Given the description of an element on the screen output the (x, y) to click on. 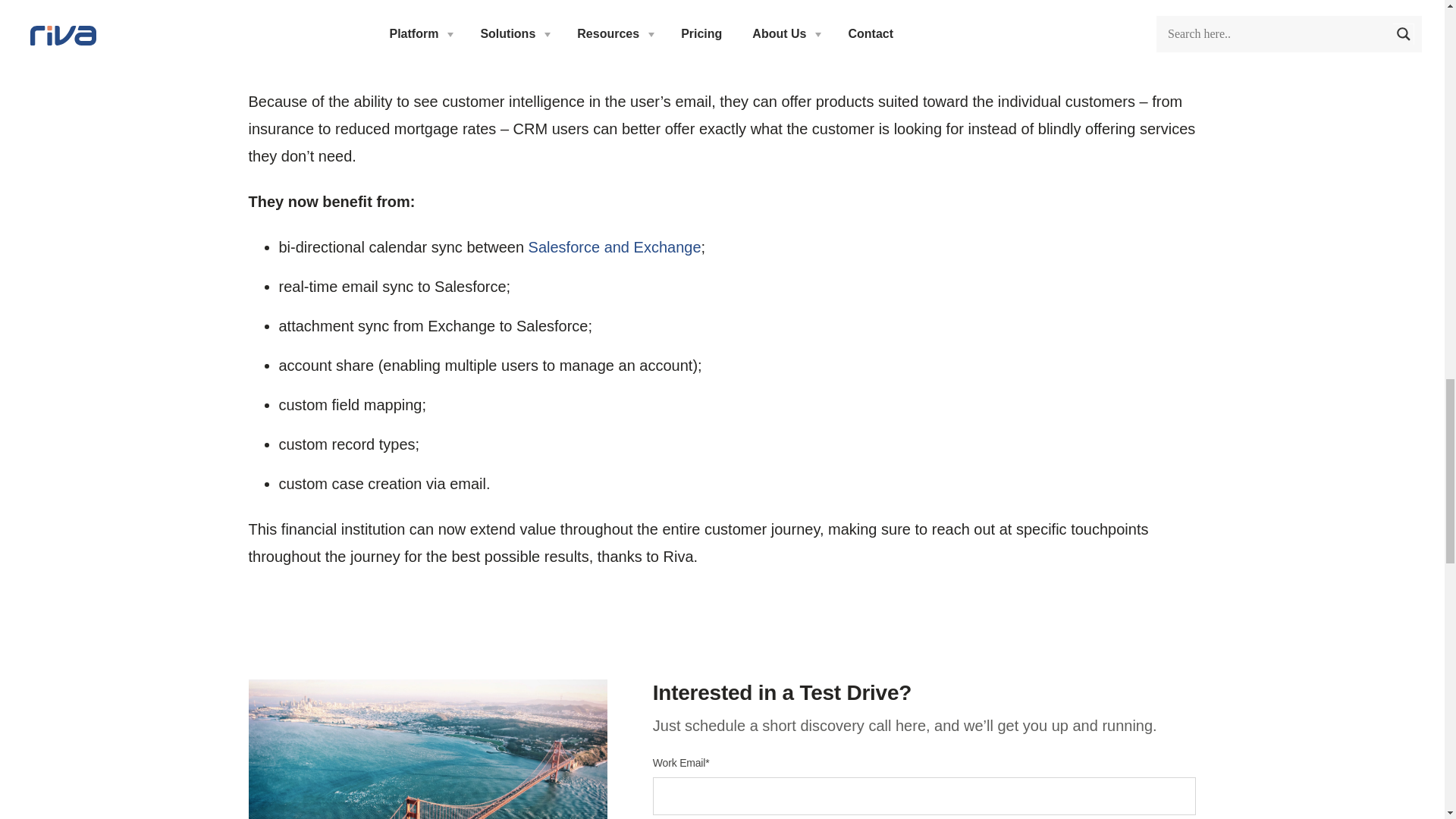
Salesforce and Exchange (614, 247)
